Given the description of an element on the screen output the (x, y) to click on. 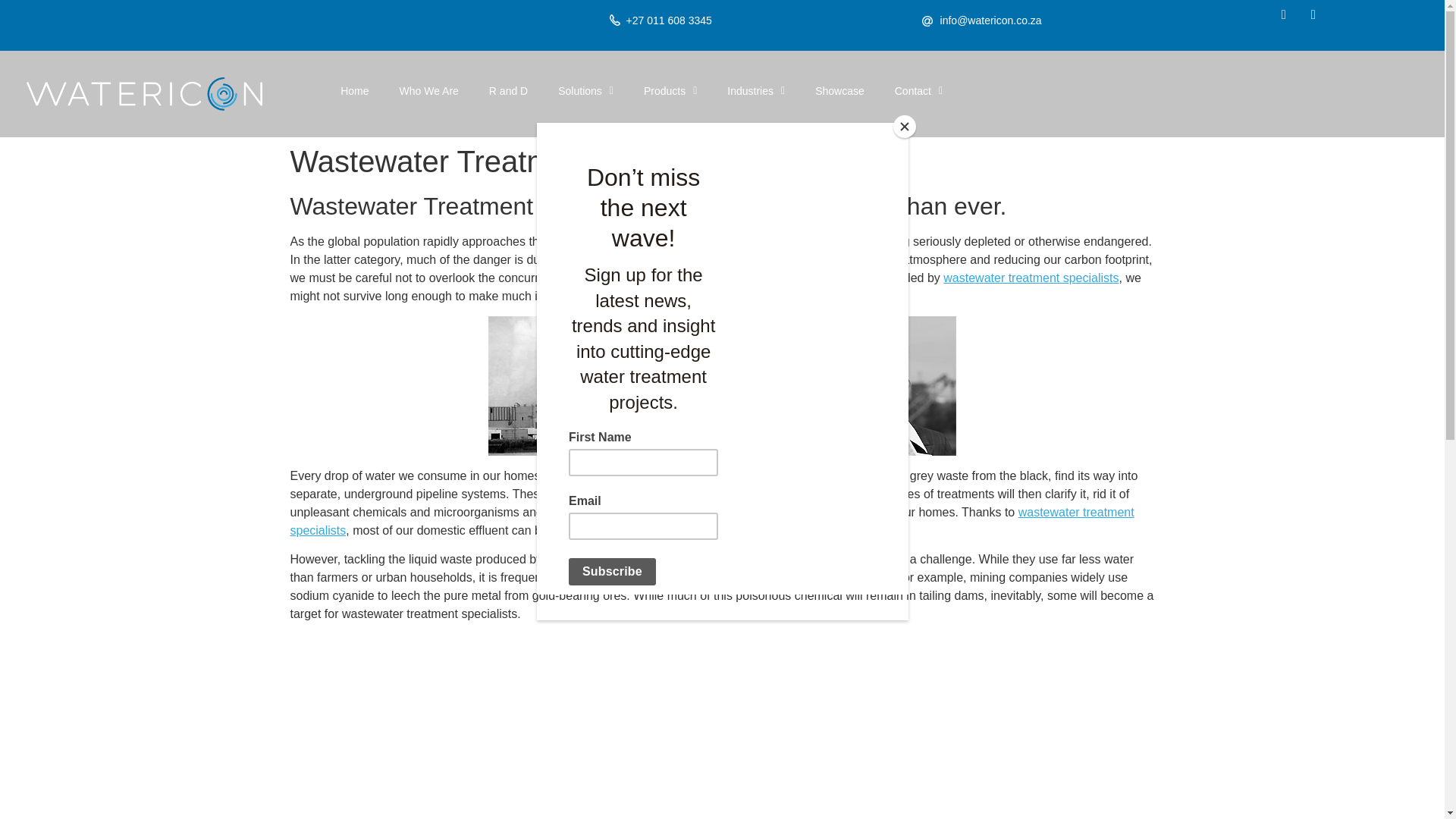
Home (354, 90)
Solutions (585, 90)
Who We Are (429, 90)
Contact (918, 90)
R and D (508, 90)
Showcase (839, 90)
YouTube video player (565, 726)
Industries (755, 90)
Products (669, 90)
